Given the description of an element on the screen output the (x, y) to click on. 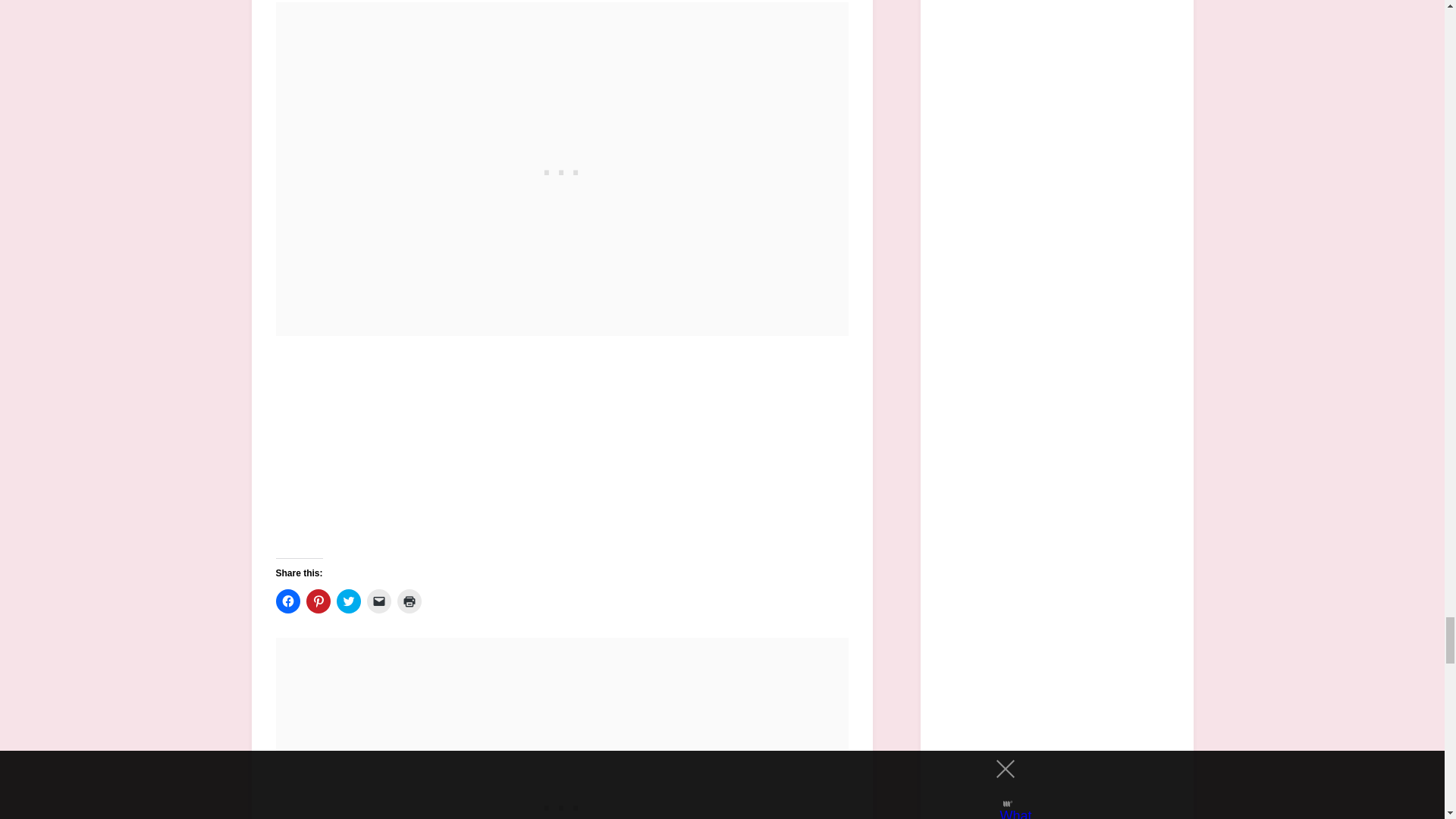
Click to share on Facebook (287, 600)
Click to share on Twitter (348, 600)
Click to email a link to a friend (378, 600)
Click to print (409, 600)
Click to share on Pinterest (317, 600)
